Given the description of an element on the screen output the (x, y) to click on. 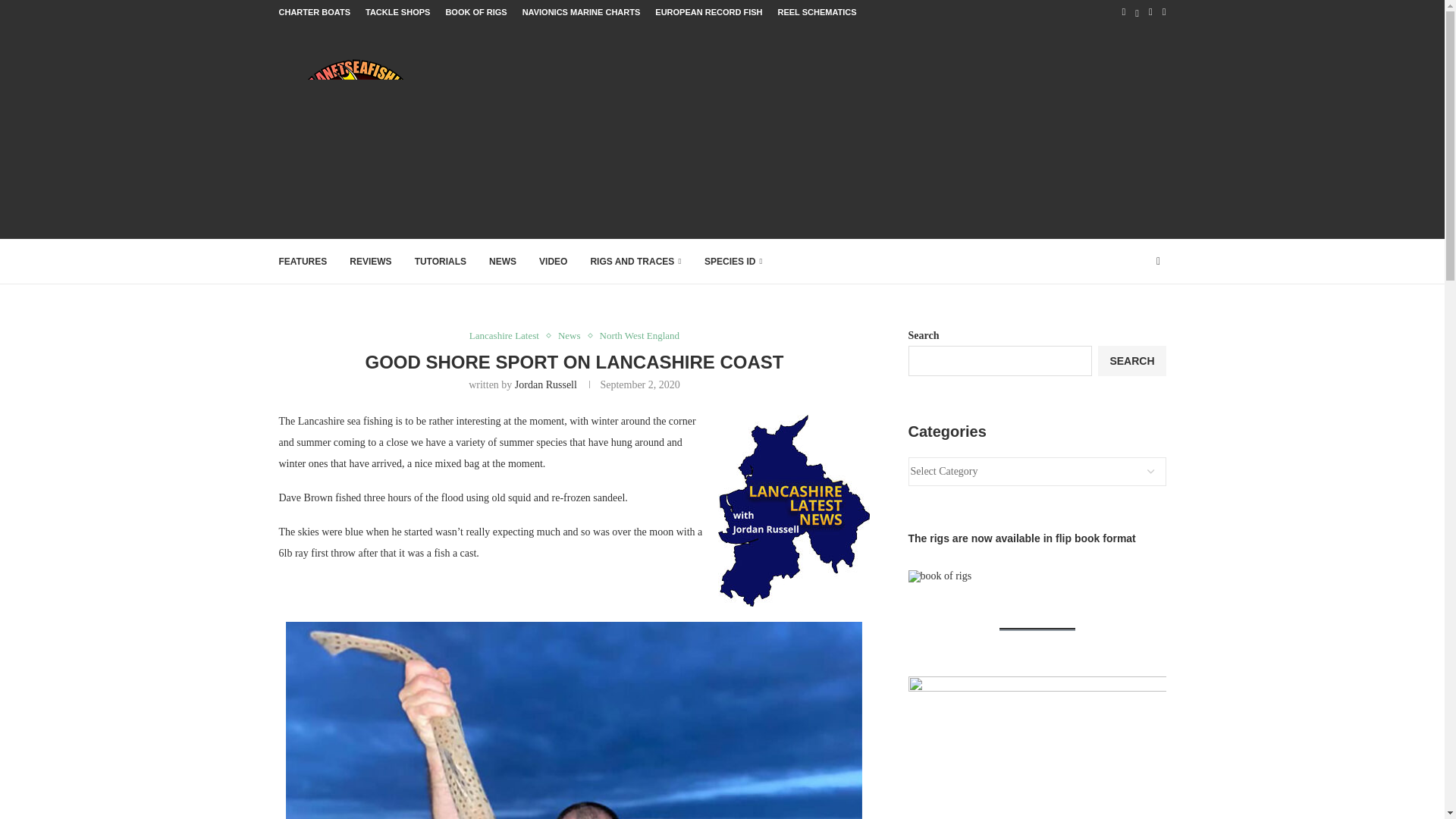
REEL SCHEMATICS (816, 12)
Lancashire Latest (507, 336)
TUTORIALS (439, 261)
RIGS AND TRACES (635, 261)
EUROPEAN RECORD FISH (708, 12)
REVIEWS (370, 261)
NAVIONICS MARINE CHARTS (581, 12)
CHARTER BOATS (314, 12)
North West England (639, 336)
TACKLE SHOPS (397, 12)
News (572, 336)
BOOK OF RIGS (475, 12)
SPECIES ID (733, 261)
Jordan Russell (545, 384)
FEATURES (303, 261)
